Given the description of an element on the screen output the (x, y) to click on. 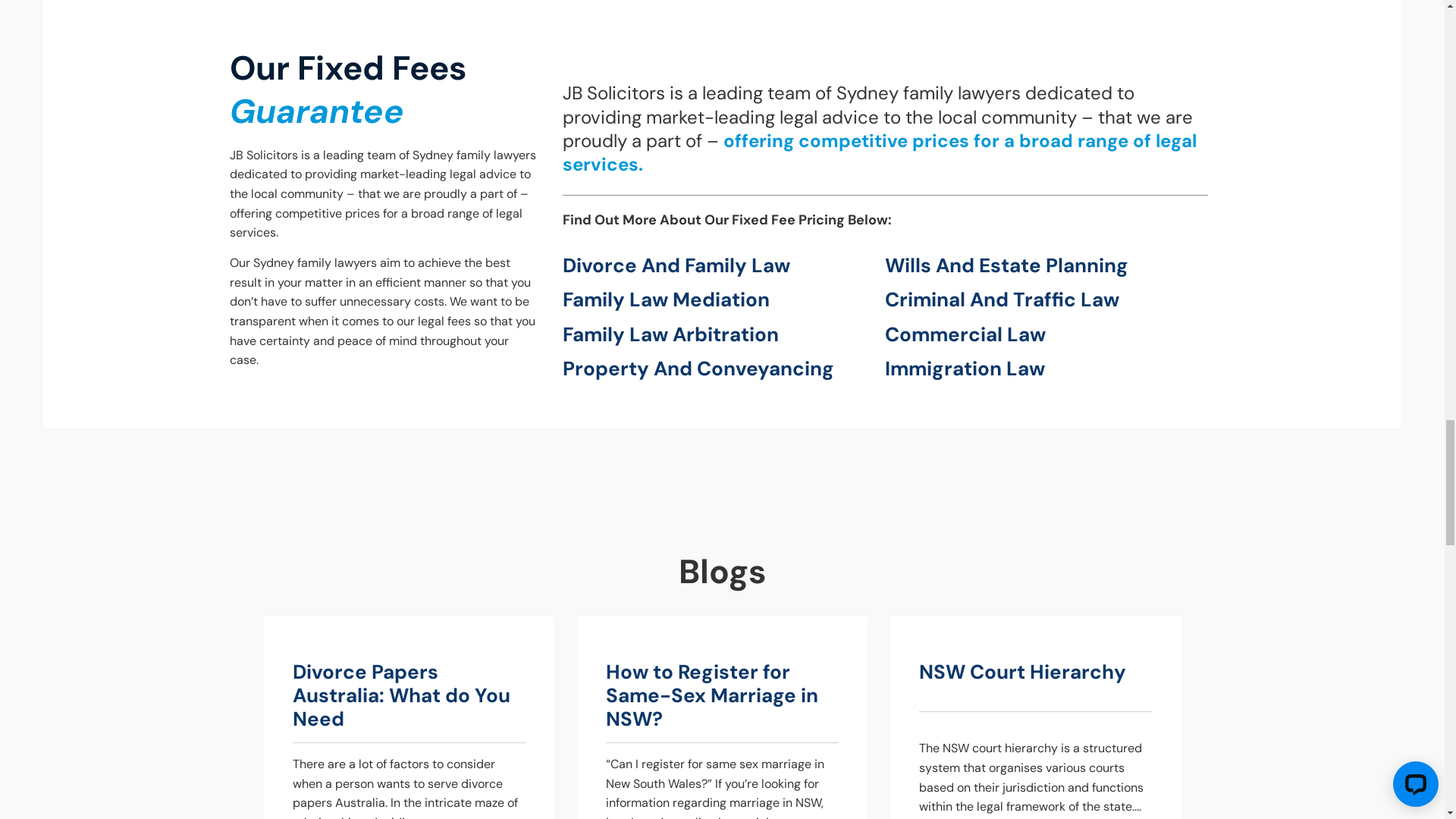
Contact Element type: text (1324, 86)
About Us Element type: text (567, 86)
Resources Element type: text (1152, 86)
Other Services Element type: text (952, 86)
About Us Element type: text (323, 445)
CALL 02 9723 8080 Element type: text (1211, 26)
See What Our Customers Have to Say About Us! Element type: text (721, 692)
Family Law Element type: text (752, 86)
Home Element type: text (277, 445)
1300 287 911 Element type: text (1342, 24)
Email us Element type: text (88, 338)
Contact us Element type: text (95, 319)
